Given the description of an element on the screen output the (x, y) to click on. 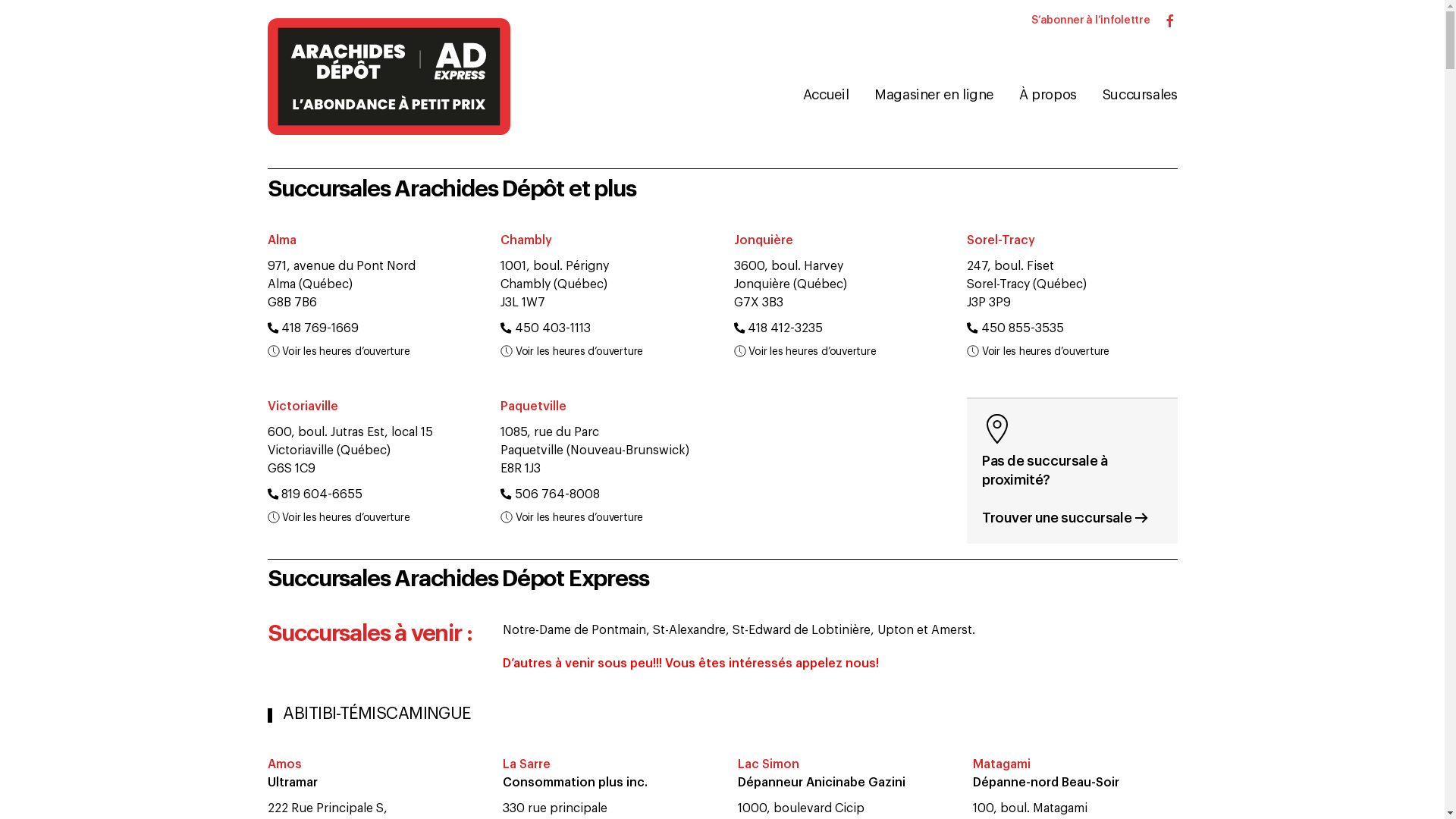
Succursales Element type: text (1138, 94)
Magasiner en ligne Element type: text (932, 94)
Accueil Element type: text (824, 94)
